Given the description of an element on the screen output the (x, y) to click on. 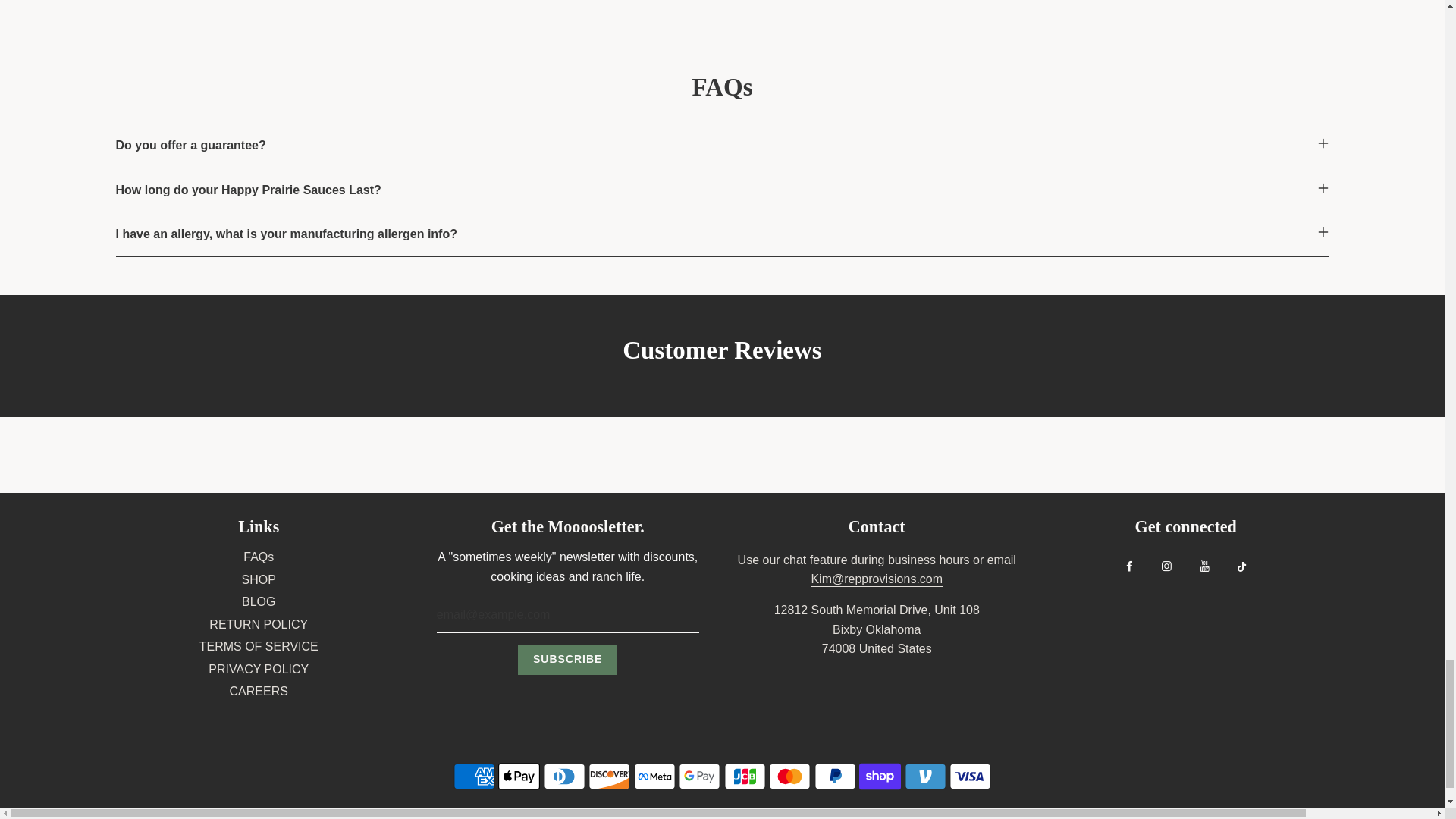
Apple Pay (518, 776)
Discover (609, 776)
Meta Pay (654, 776)
American Express (473, 776)
Subscribe (567, 659)
Google Pay (699, 776)
Diners Club (564, 776)
Customer Reviews (722, 355)
